Given the description of an element on the screen output the (x, y) to click on. 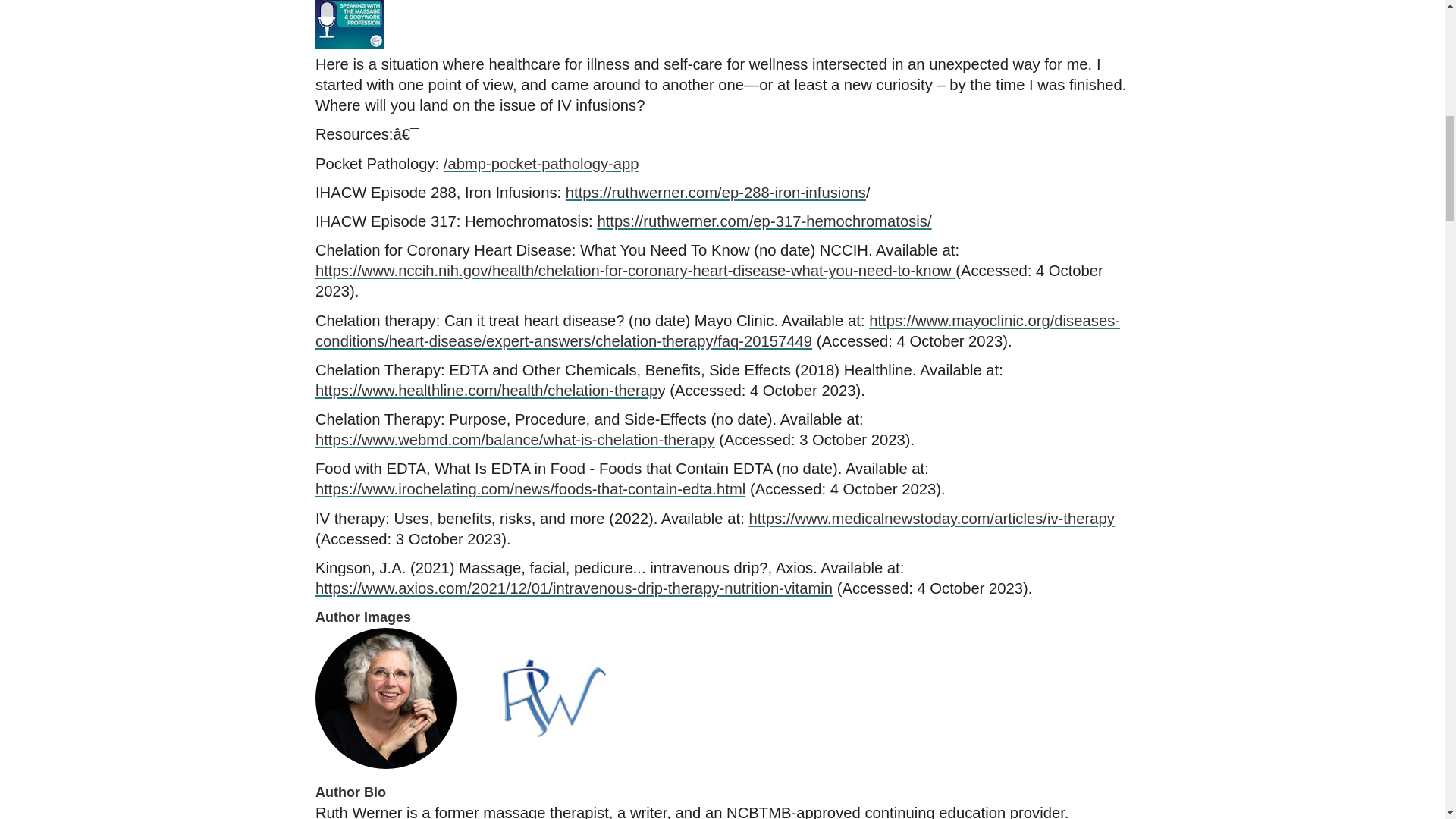
Libsyn Player (722, 24)
